Given the description of an element on the screen output the (x, y) to click on. 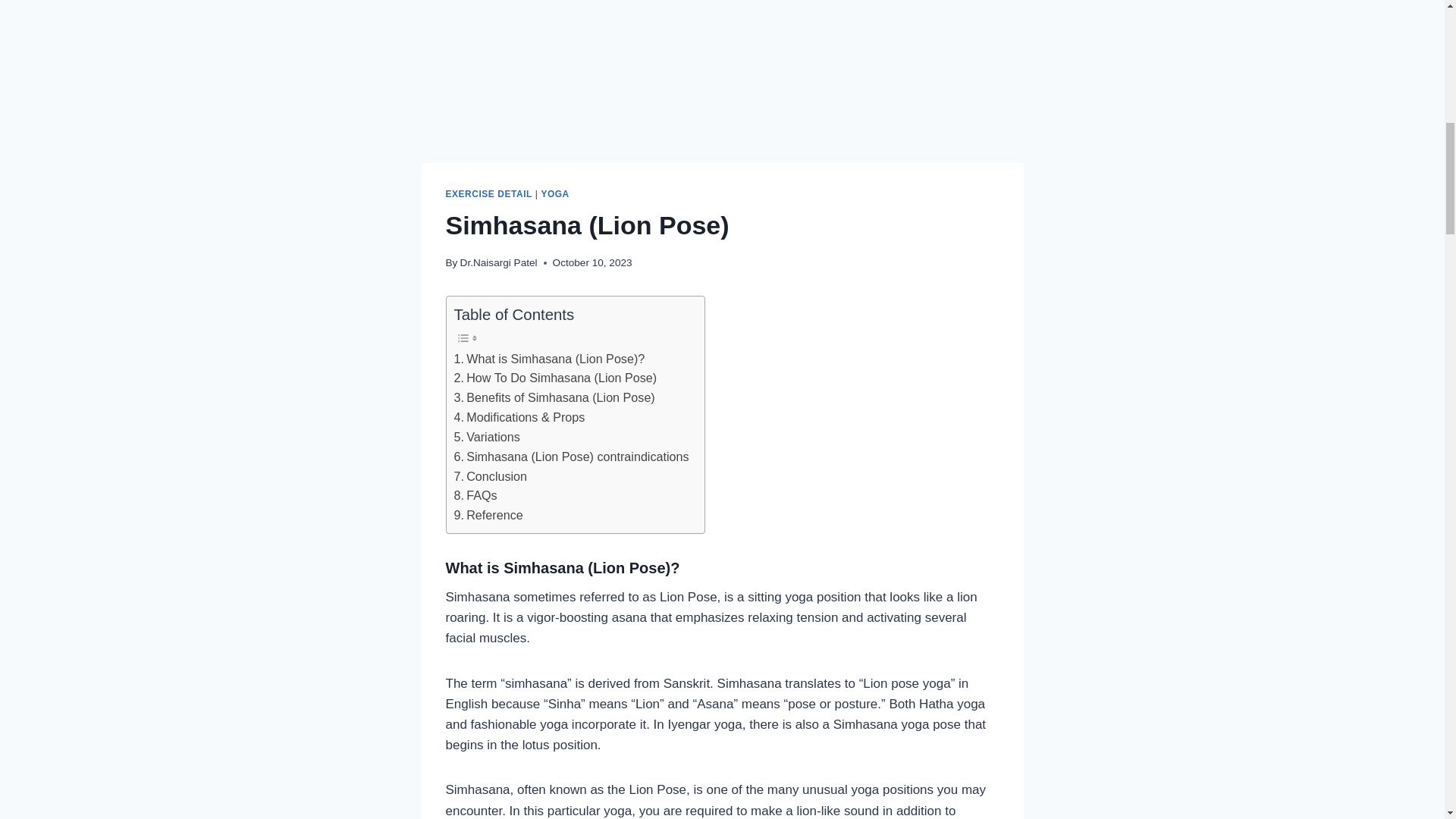
FAQs (474, 496)
Conclusion (489, 476)
YOGA (554, 194)
Reference (487, 515)
EXERCISE DETAIL (488, 194)
Dr.Naisargi Patel (498, 262)
Variations (485, 437)
